Given the description of an element on the screen output the (x, y) to click on. 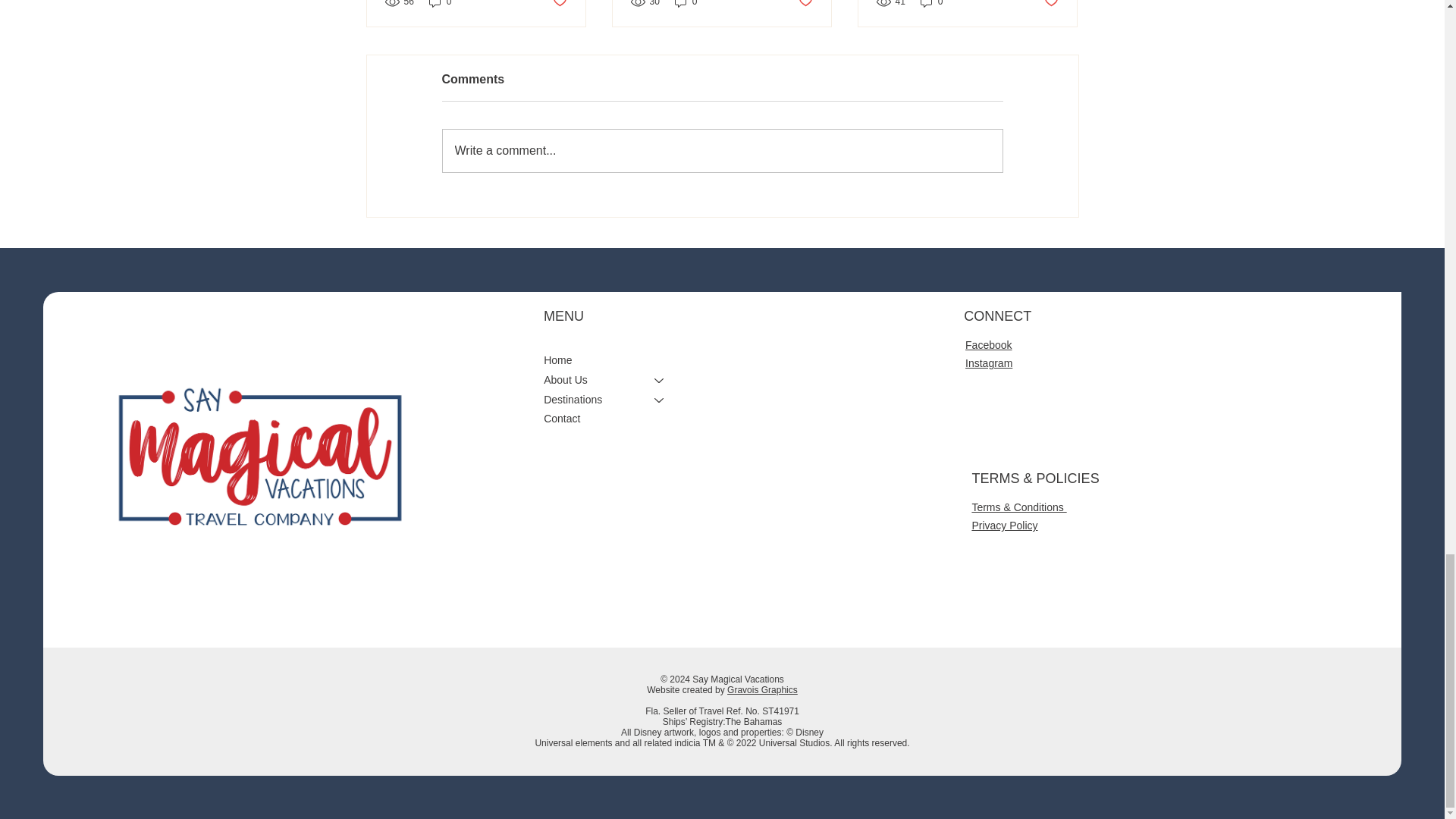
Post not marked as liked (804, 4)
0 (685, 4)
Post not marked as liked (558, 4)
0 (931, 4)
Post not marked as liked (1050, 4)
Home (610, 361)
Write a comment... (722, 150)
0 (440, 4)
